Given the description of an element on the screen output the (x, y) to click on. 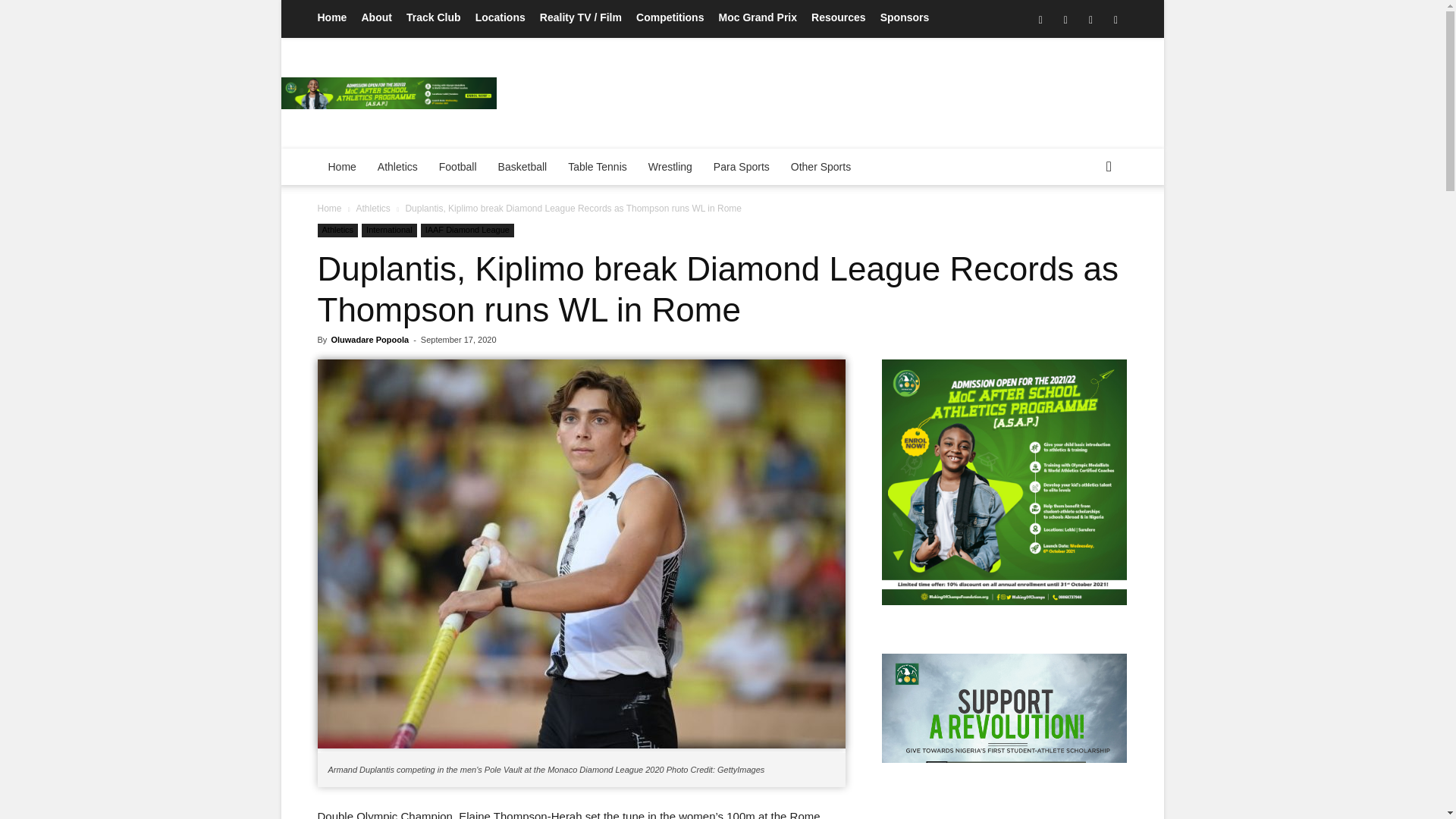
Track Club (433, 17)
Home (331, 17)
About (376, 17)
Locations (500, 17)
